Given the description of an element on the screen output the (x, y) to click on. 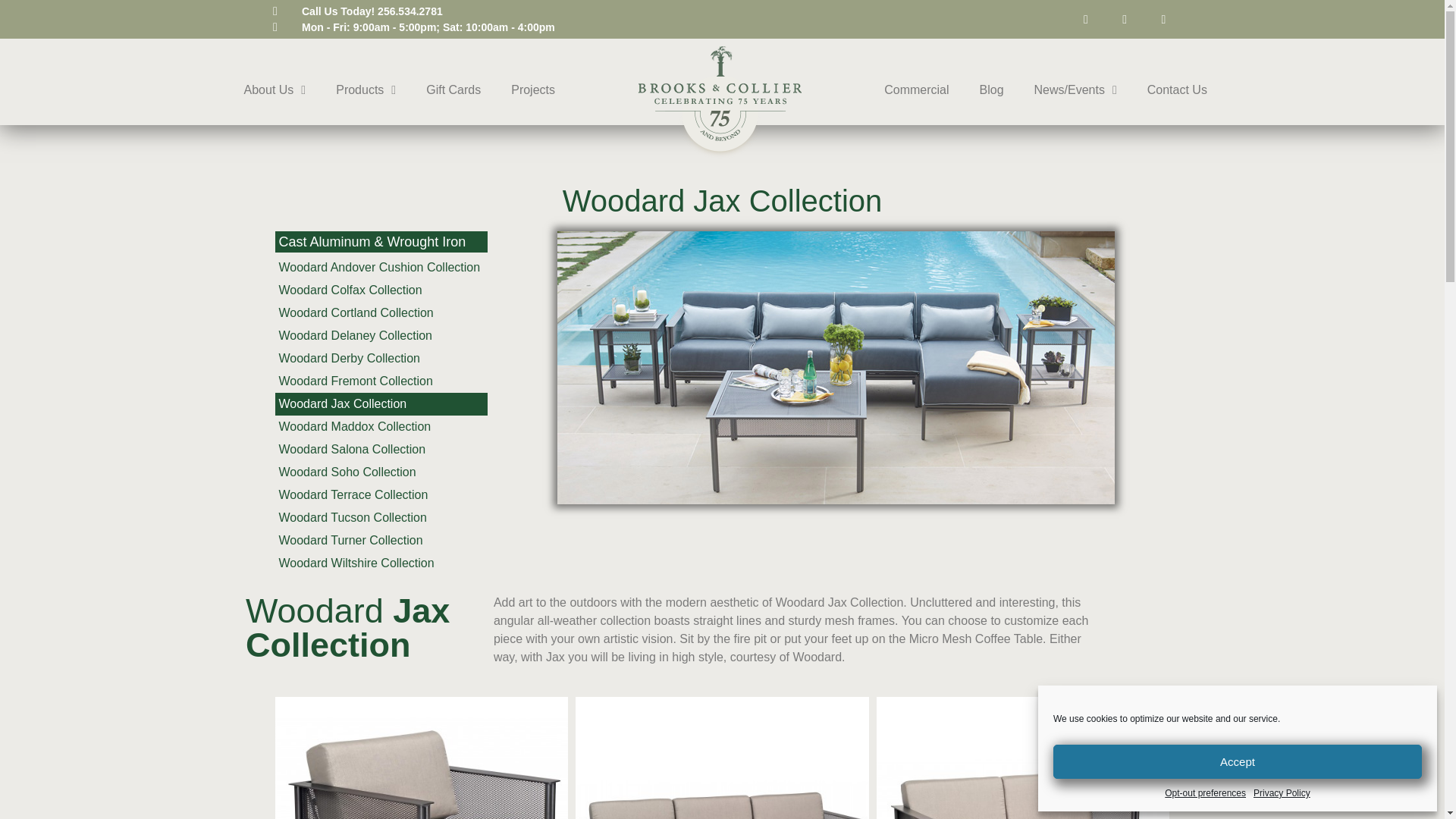
Opt-out preferences (1205, 793)
Privacy Policy (1281, 793)
Accept (1237, 761)
Products (365, 89)
About Us (274, 89)
Call Us Today! 256.534.2781 (357, 11)
